Given the description of an element on the screen output the (x, y) to click on. 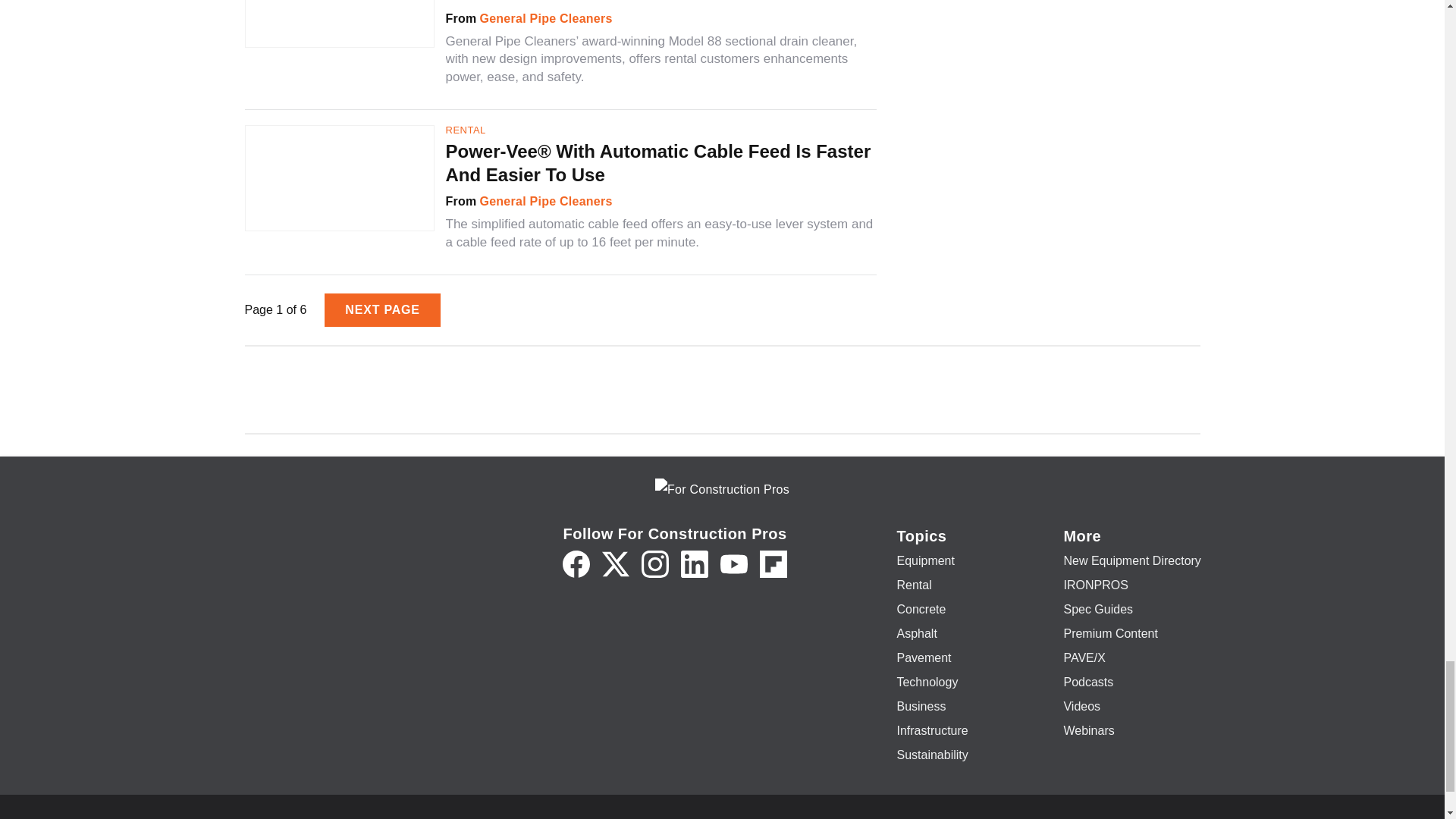
LinkedIn icon (694, 564)
Twitter X icon (615, 564)
Flipboard icon (773, 564)
YouTube icon (734, 564)
Instagram icon (655, 564)
Facebook icon (575, 564)
